Given the description of an element on the screen output the (x, y) to click on. 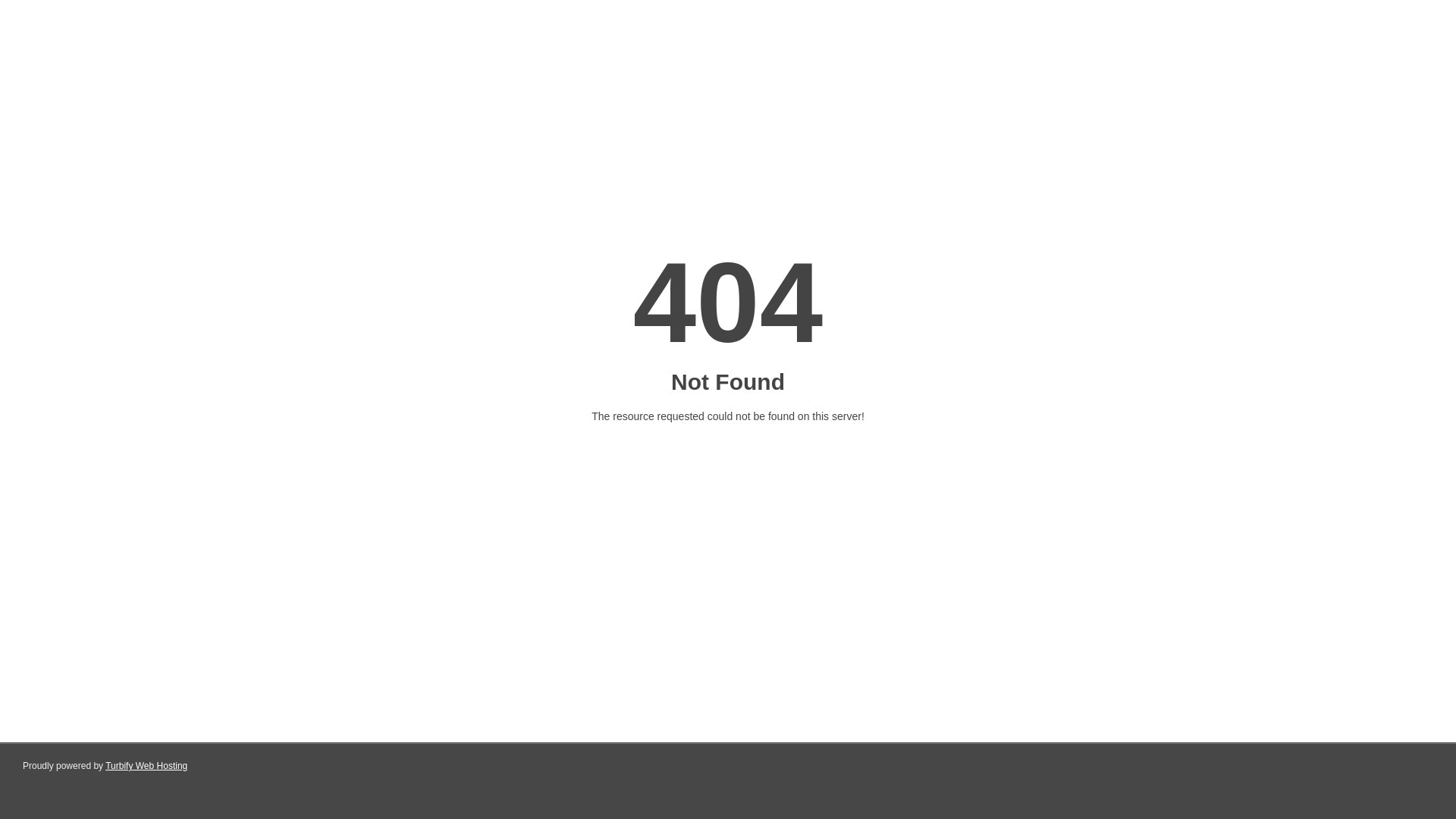
Turbify Web Hosting Element type: text (146, 765)
